Given the description of an element on the screen output the (x, y) to click on. 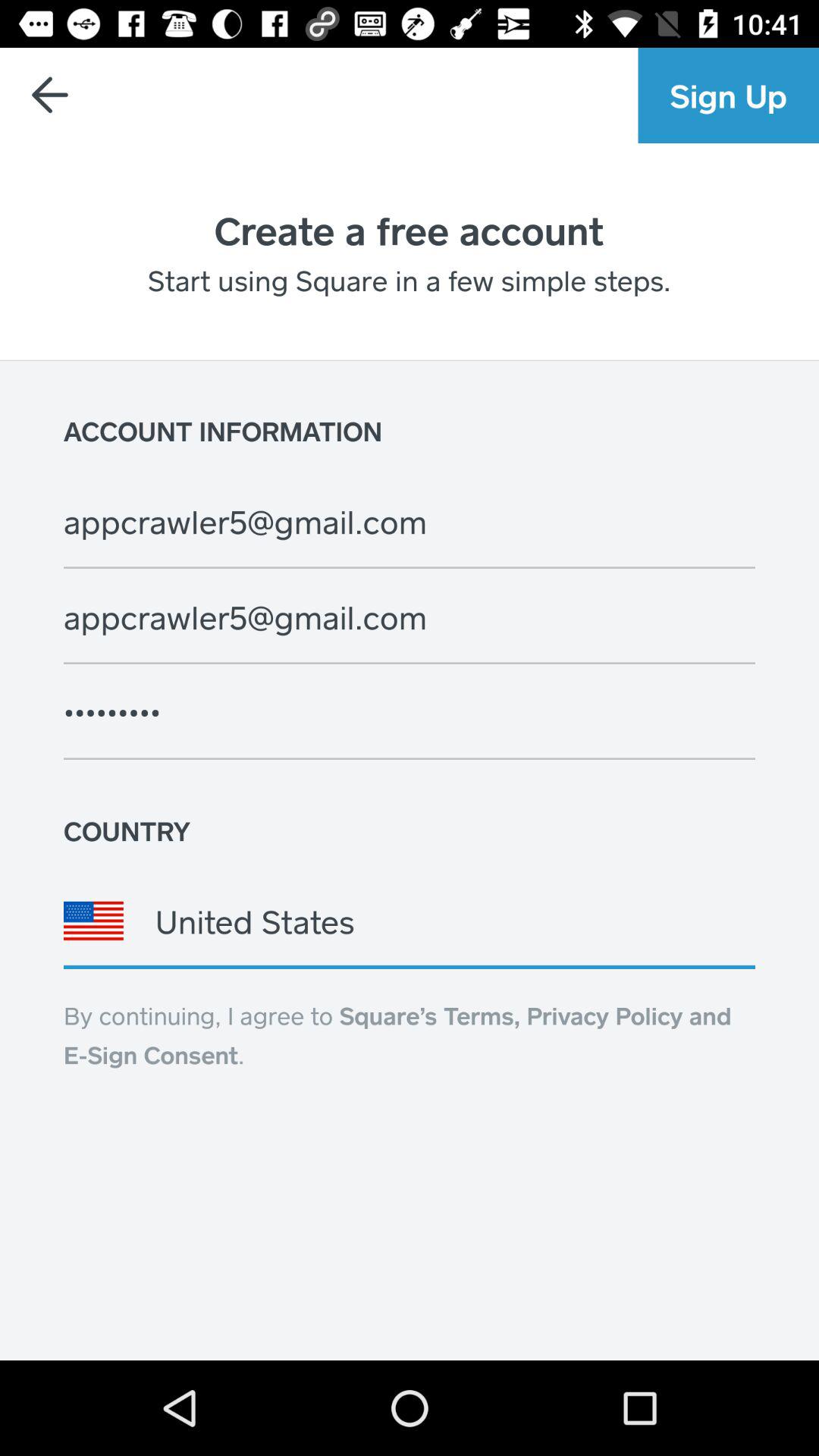
open the sign up item (728, 95)
